Given the description of an element on the screen output the (x, y) to click on. 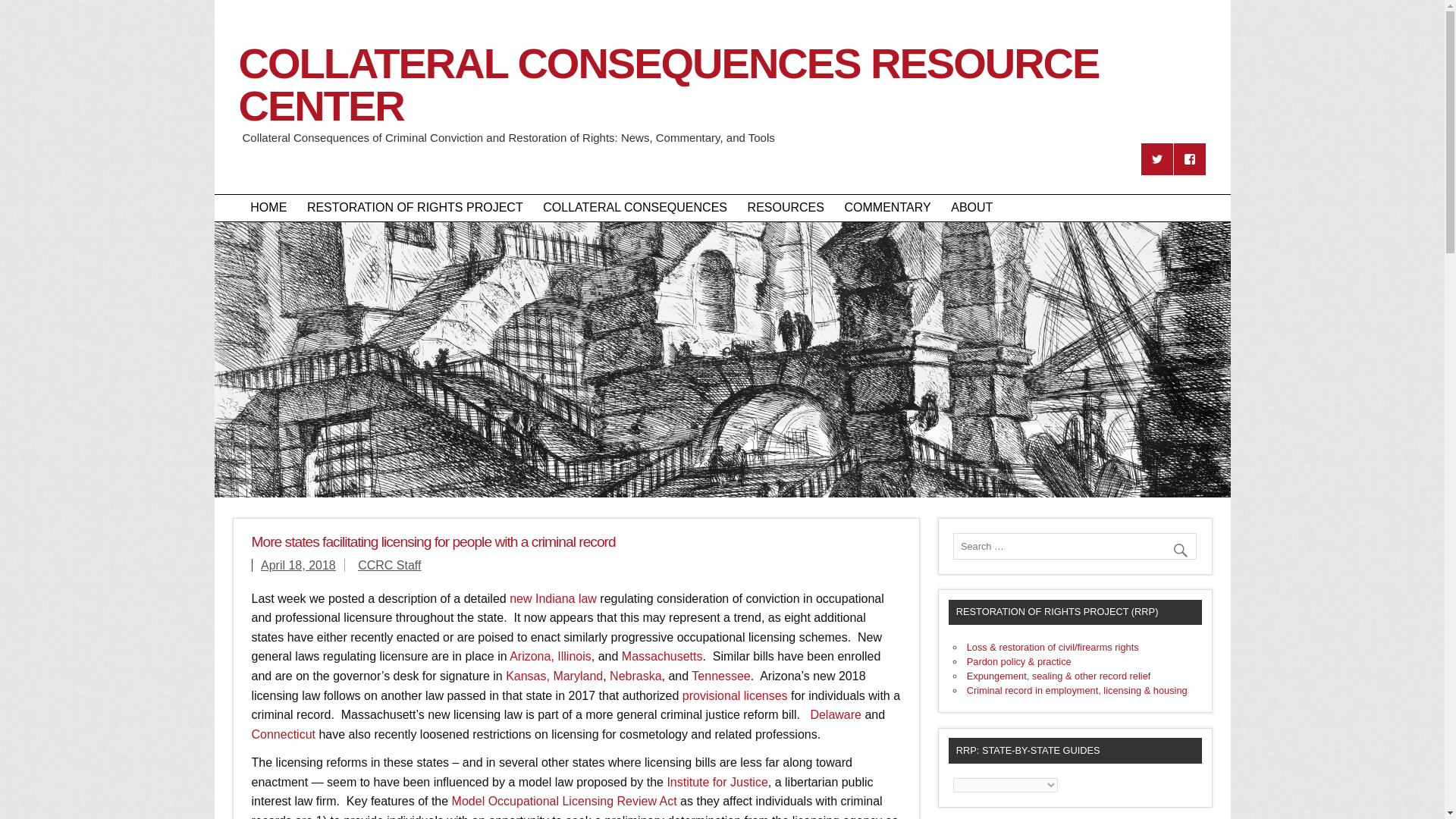
RESOURCES (786, 207)
HOME (269, 207)
9:17 am (298, 564)
RESTORATION OF RIGHTS PROJECT (414, 207)
COLLATERAL CONSEQUENCES (634, 207)
COLLATERAL CONSEQUENCES RESOURCE CENTER (721, 115)
View all posts by CCRC Staff (389, 564)
Collateral Consequences Resource Center (721, 115)
